Given the description of an element on the screen output the (x, y) to click on. 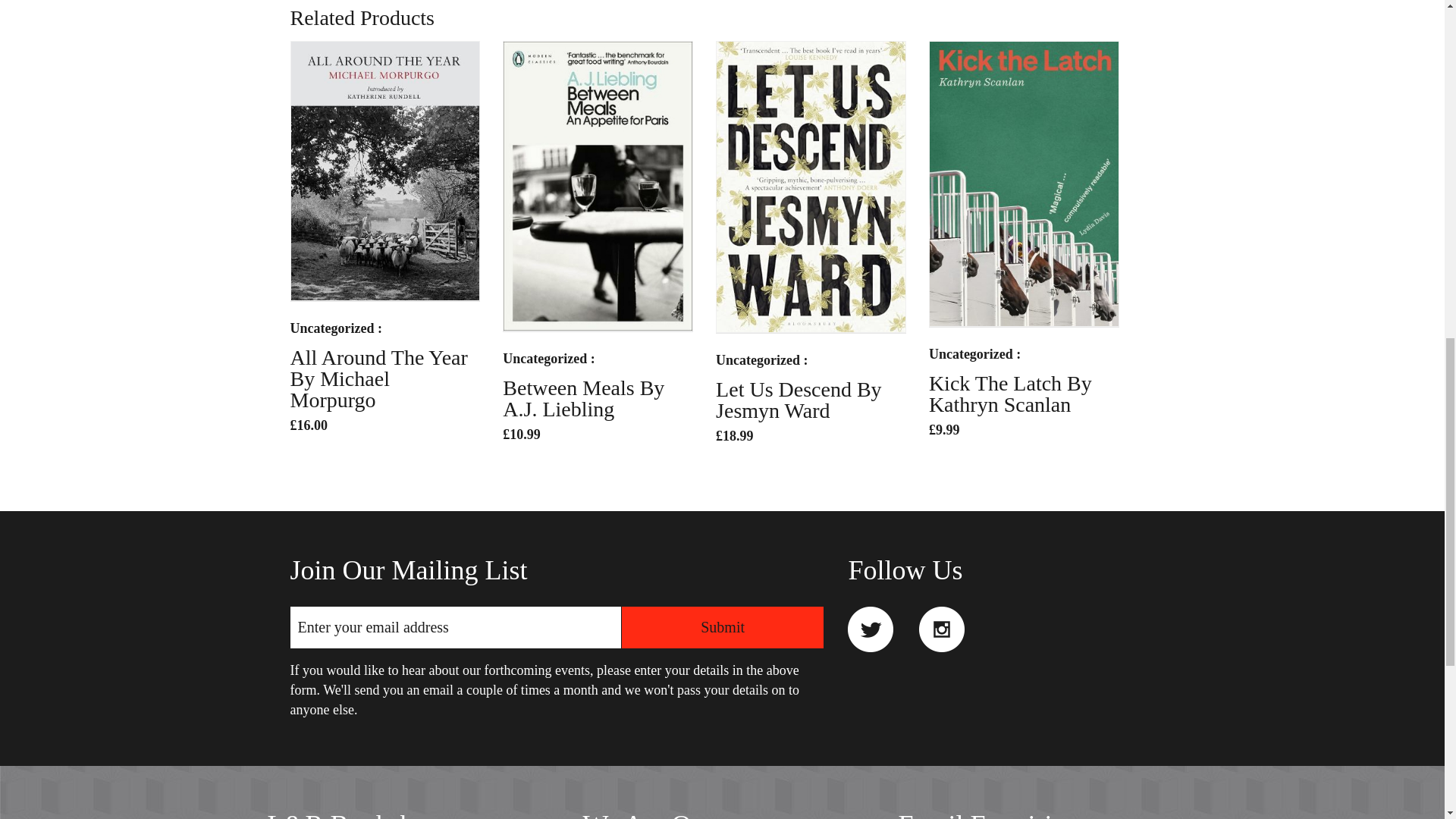
Between Meals By A.J. Liebling (582, 397)
Kick The Latch By Kathryn Scanlan (1010, 393)
Let Us Descend By Jesmyn Ward (799, 399)
All Around The Year By Michael Morpurgo (378, 378)
Submit (722, 627)
Submit (722, 627)
